Given the description of an element on the screen output the (x, y) to click on. 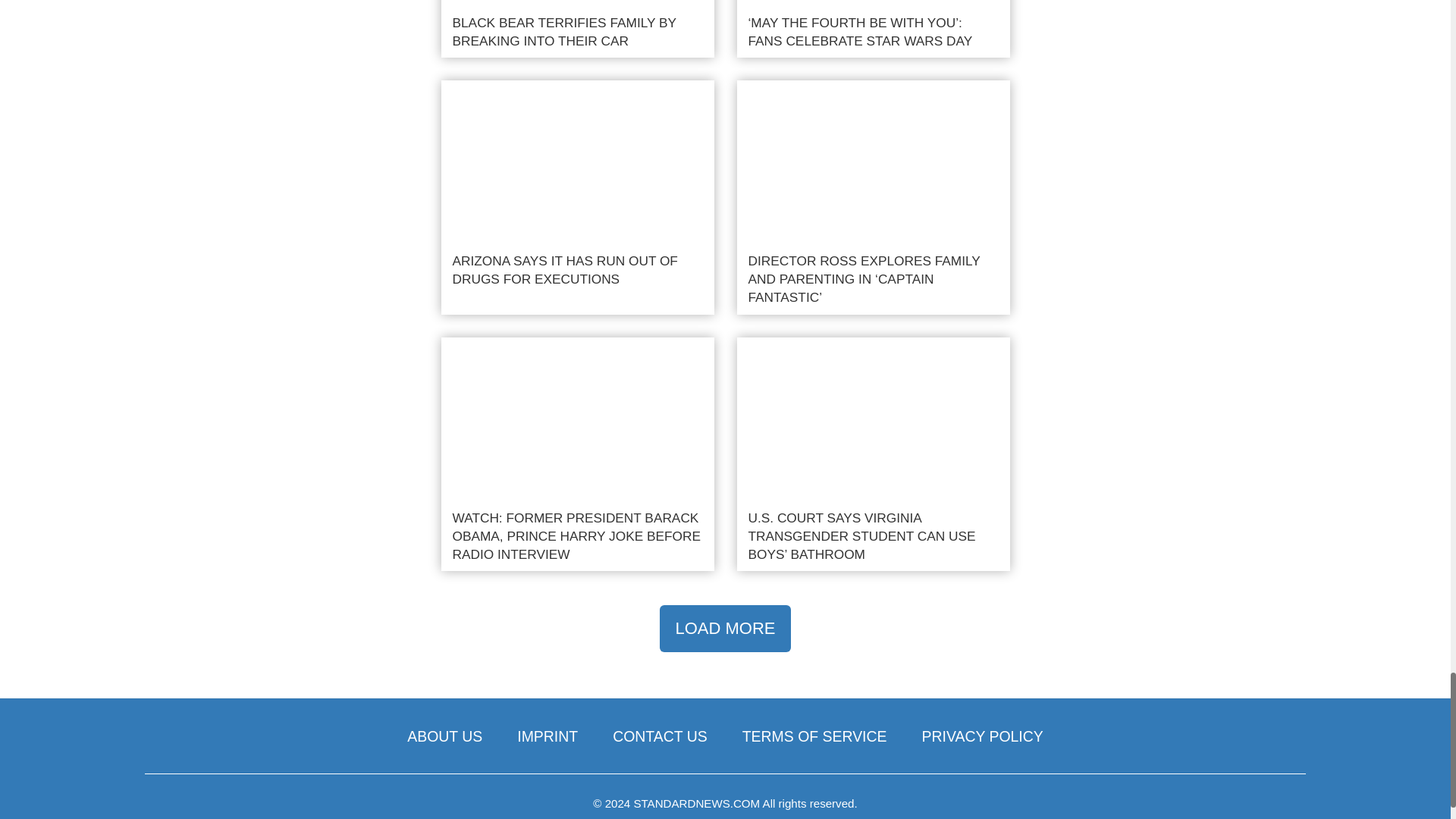
BLACK BEAR TERRIFIES FAMILY BY BREAKING INTO THEIR CAR (577, 28)
IMPRINT (547, 736)
TERMS OF SERVICE (814, 736)
ARIZONA SAYS IT HAS RUN OUT OF DRUGS FOR EXECUTIONS (577, 197)
PRIVACY POLICY (982, 736)
CONTACT US (659, 736)
LOAD MORE (724, 628)
ABOUT US (444, 736)
